Given the description of an element on the screen output the (x, y) to click on. 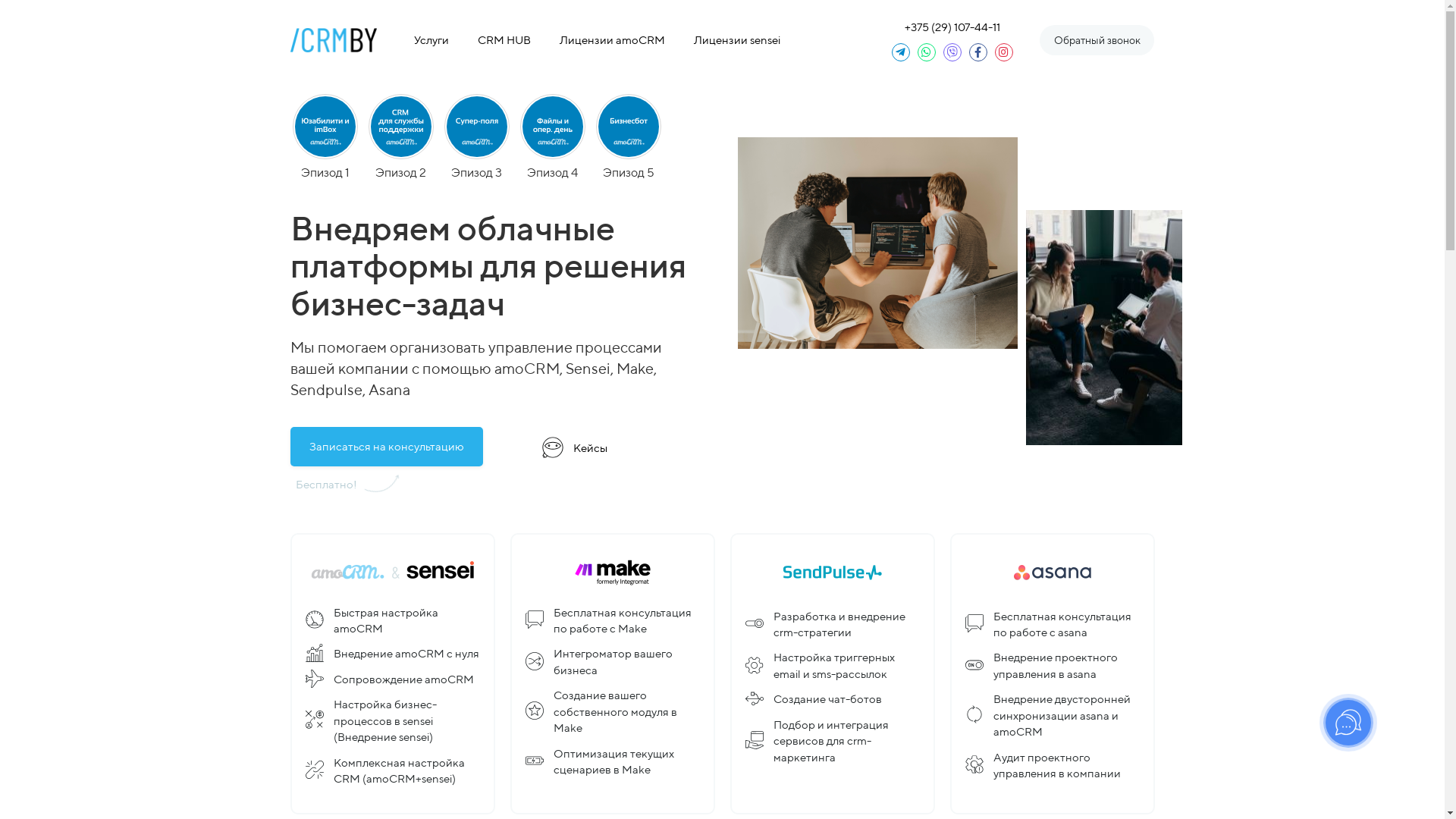
CRM HUB Element type: text (503, 39)
+375 (29) 107-44-11 Element type: text (952, 26)
